Given the description of an element on the screen output the (x, y) to click on. 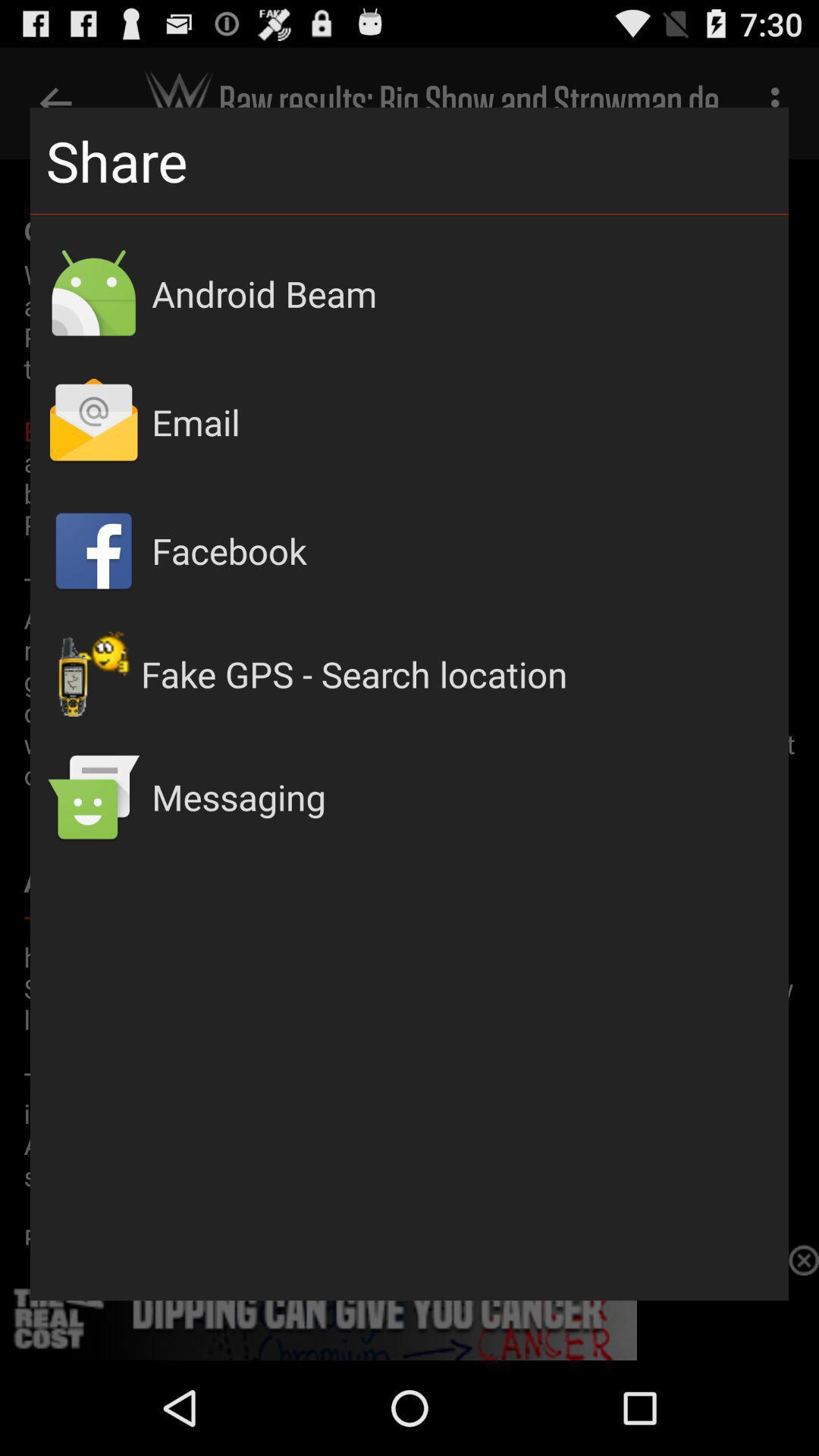
scroll until android beam icon (461, 293)
